Given the description of an element on the screen output the (x, y) to click on. 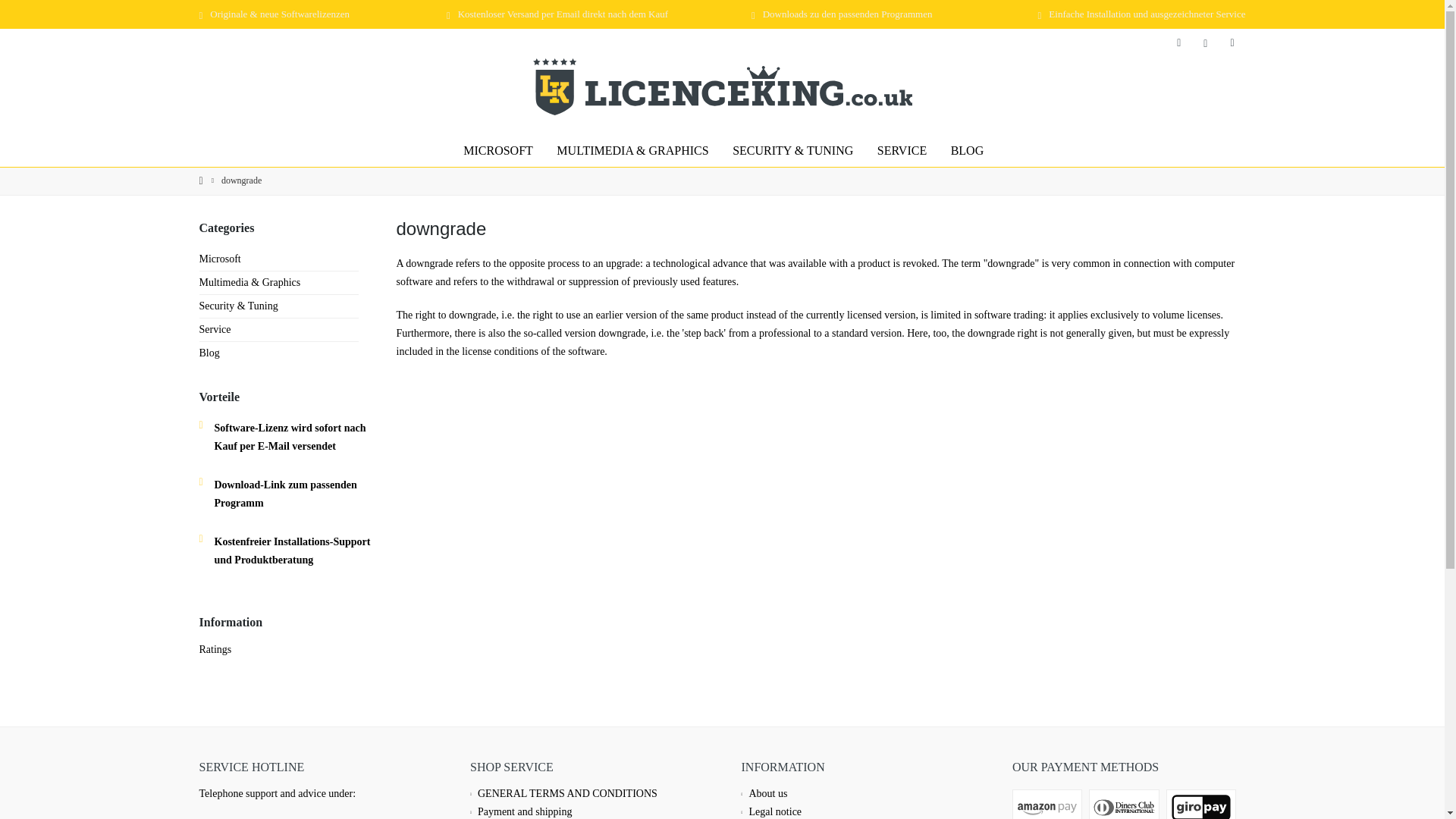
SERVICE (901, 150)
Blog (967, 150)
downgrade (240, 180)
MICROSOFT (497, 150)
Customer account (1205, 42)
BLOG (967, 150)
licenceking.co.uk - Switch to homepage (721, 86)
Microsoft (497, 150)
Service (901, 150)
MICROSOFT (497, 150)
